Given the description of an element on the screen output the (x, y) to click on. 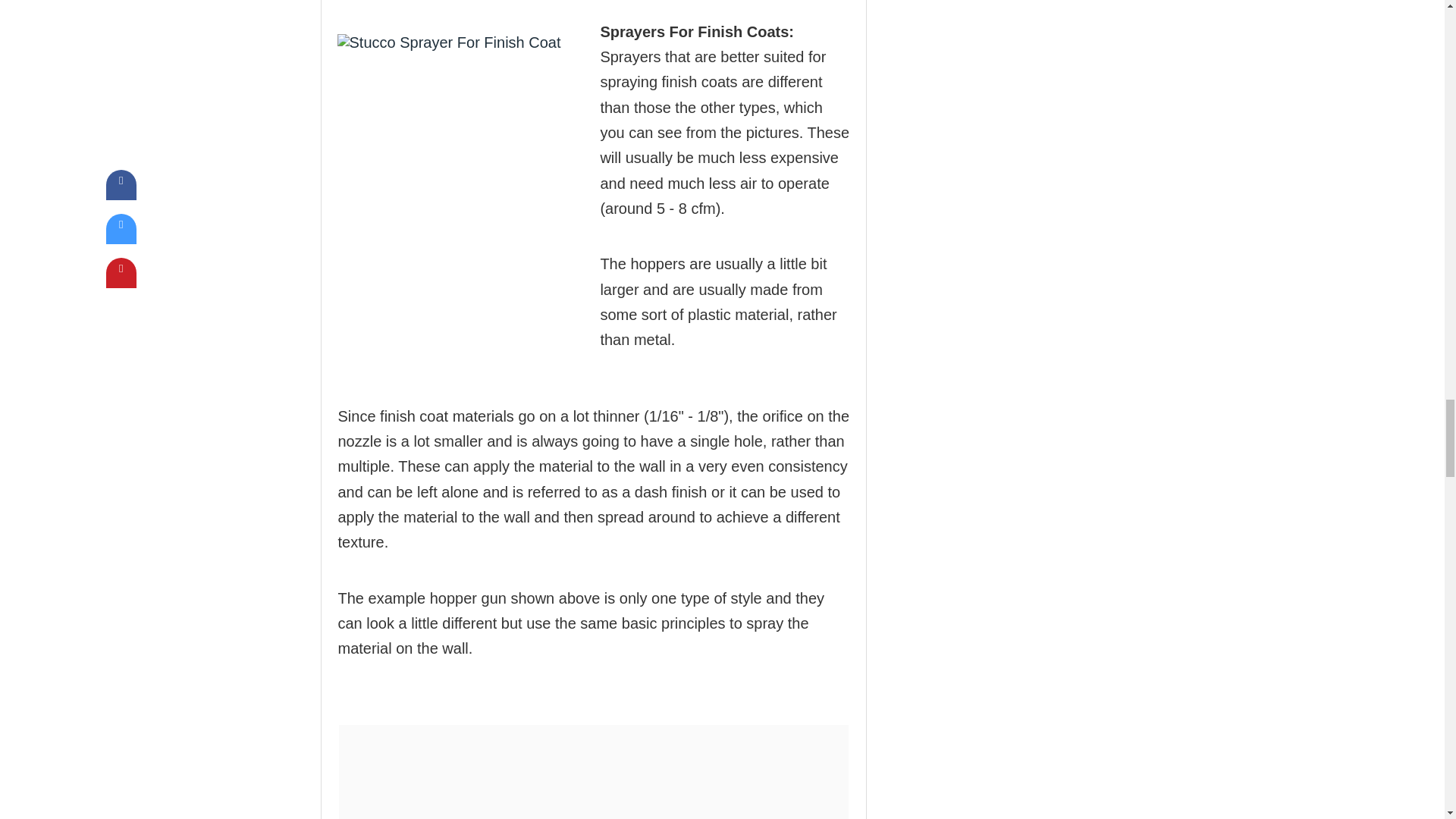
Stucco Sprayer For Finish Coat (457, 155)
